Given the description of an element on the screen output the (x, y) to click on. 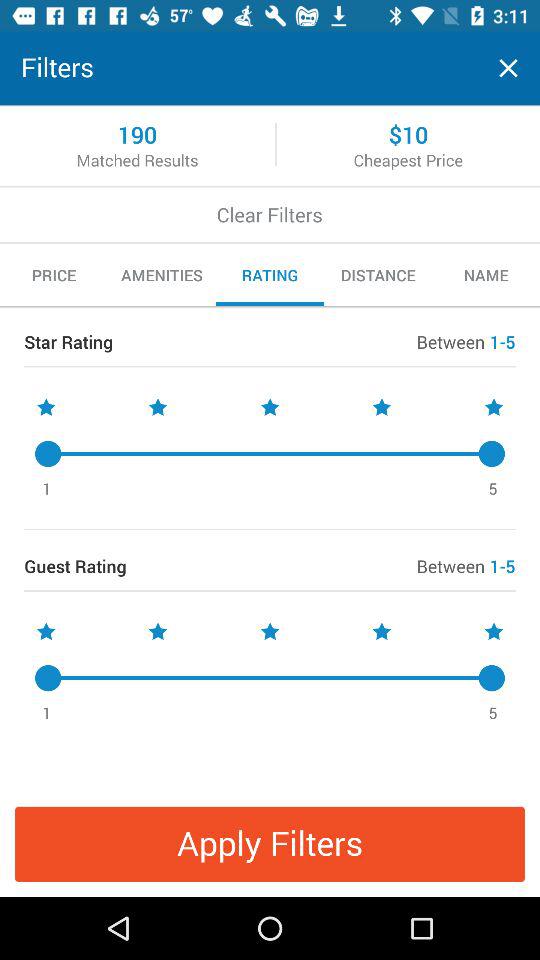
open the icon to the right of rating item (378, 275)
